Given the description of an element on the screen output the (x, y) to click on. 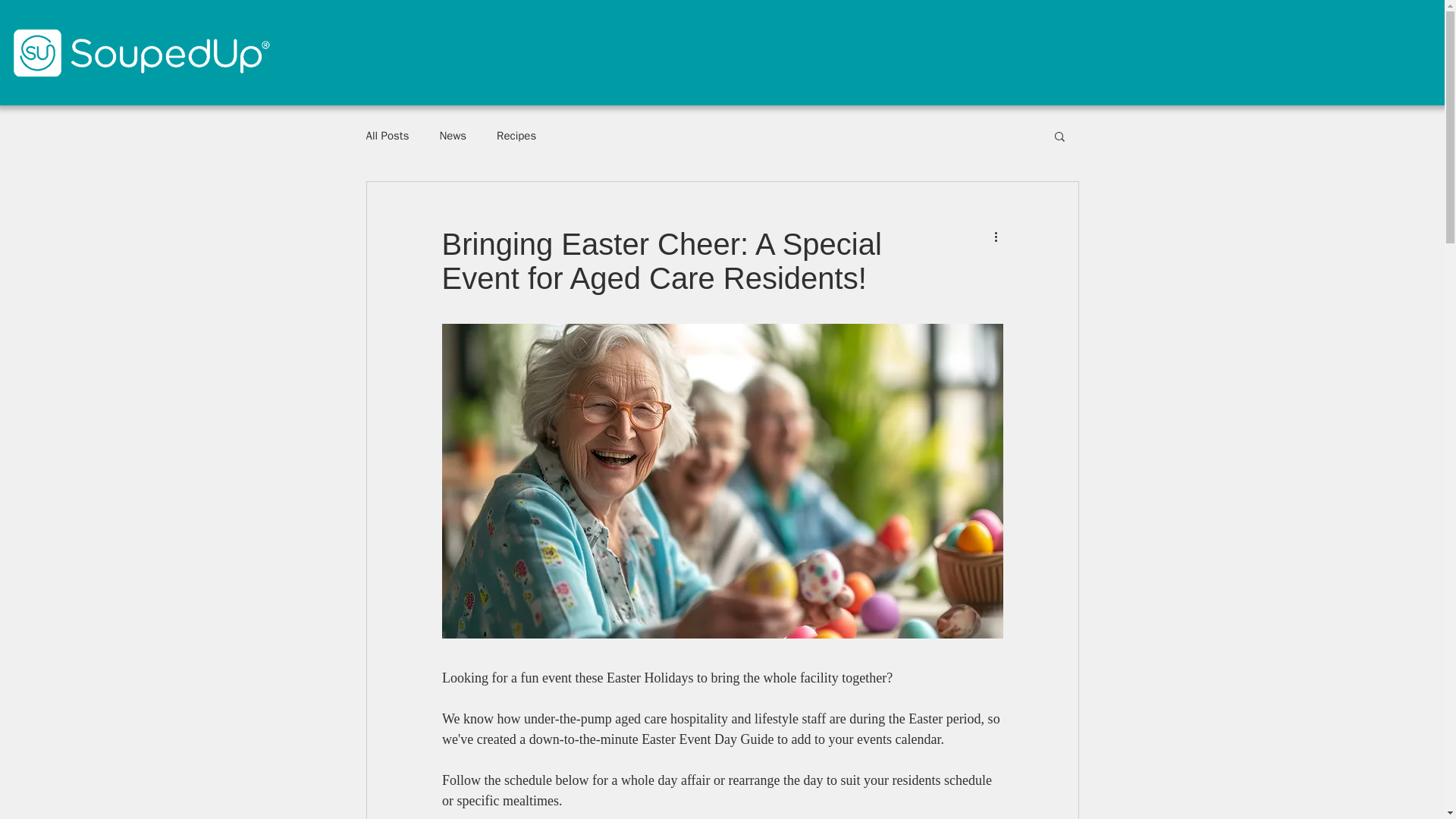
All Posts (387, 135)
Recipes (515, 135)
News (452, 135)
